Given the description of an element on the screen output the (x, y) to click on. 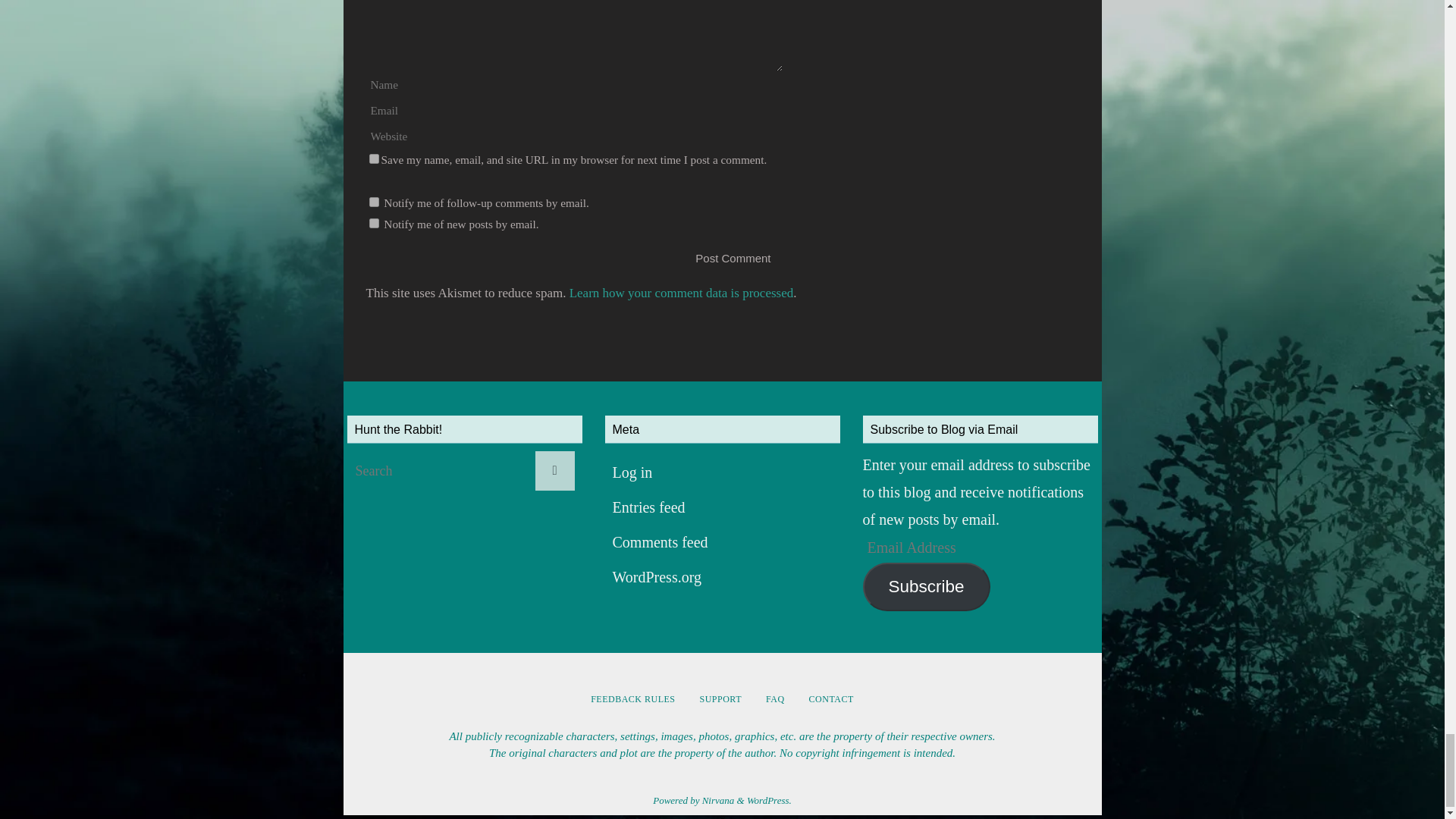
subscribe (373, 223)
Post Comment (732, 257)
yes (373, 158)
Nirvana Theme by Cryout Creations (718, 799)
subscribe (373, 202)
